Given the description of an element on the screen output the (x, y) to click on. 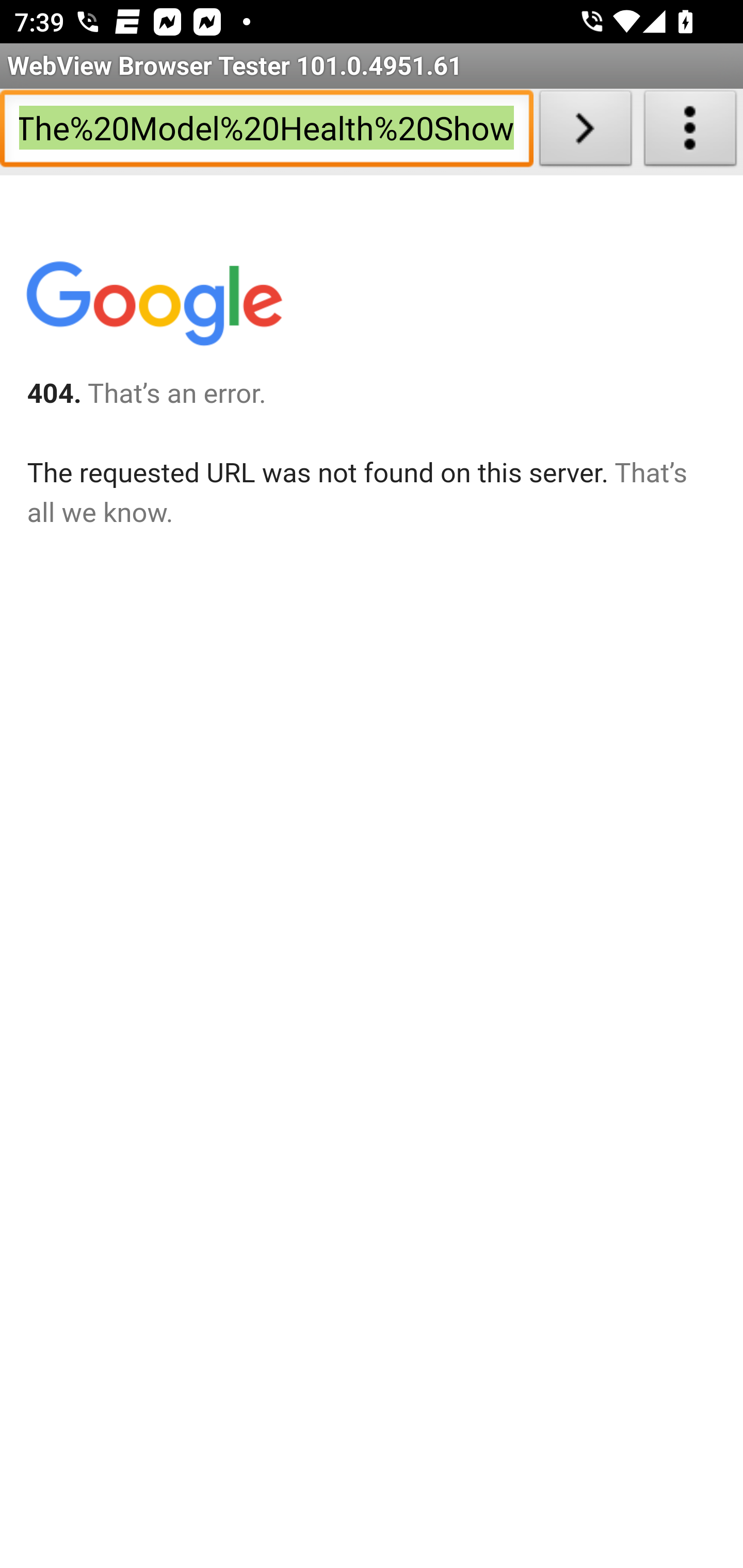
Load URL (585, 132)
About WebView (690, 132)
Google (153, 307)
